Given the description of an element on the screen output the (x, y) to click on. 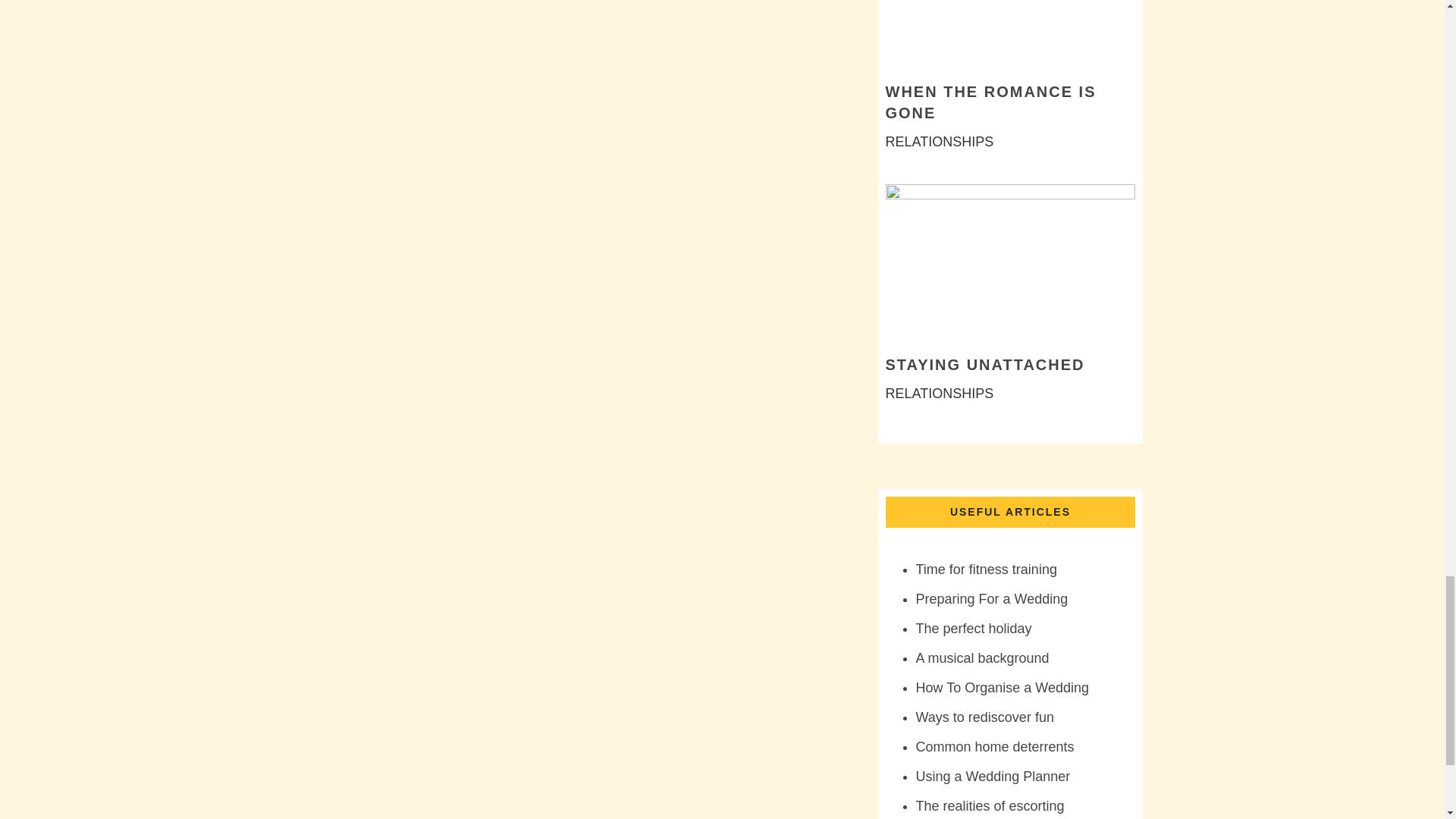
RELATIONSHIPS (939, 393)
STAYING UNATTACHED (984, 364)
WHEN THE ROMANCE IS GONE (990, 102)
RELATIONSHIPS (939, 141)
Preparing For a Wedding (991, 598)
Time for fitness training (986, 569)
The perfect holiday (973, 628)
